Given the description of an element on the screen output the (x, y) to click on. 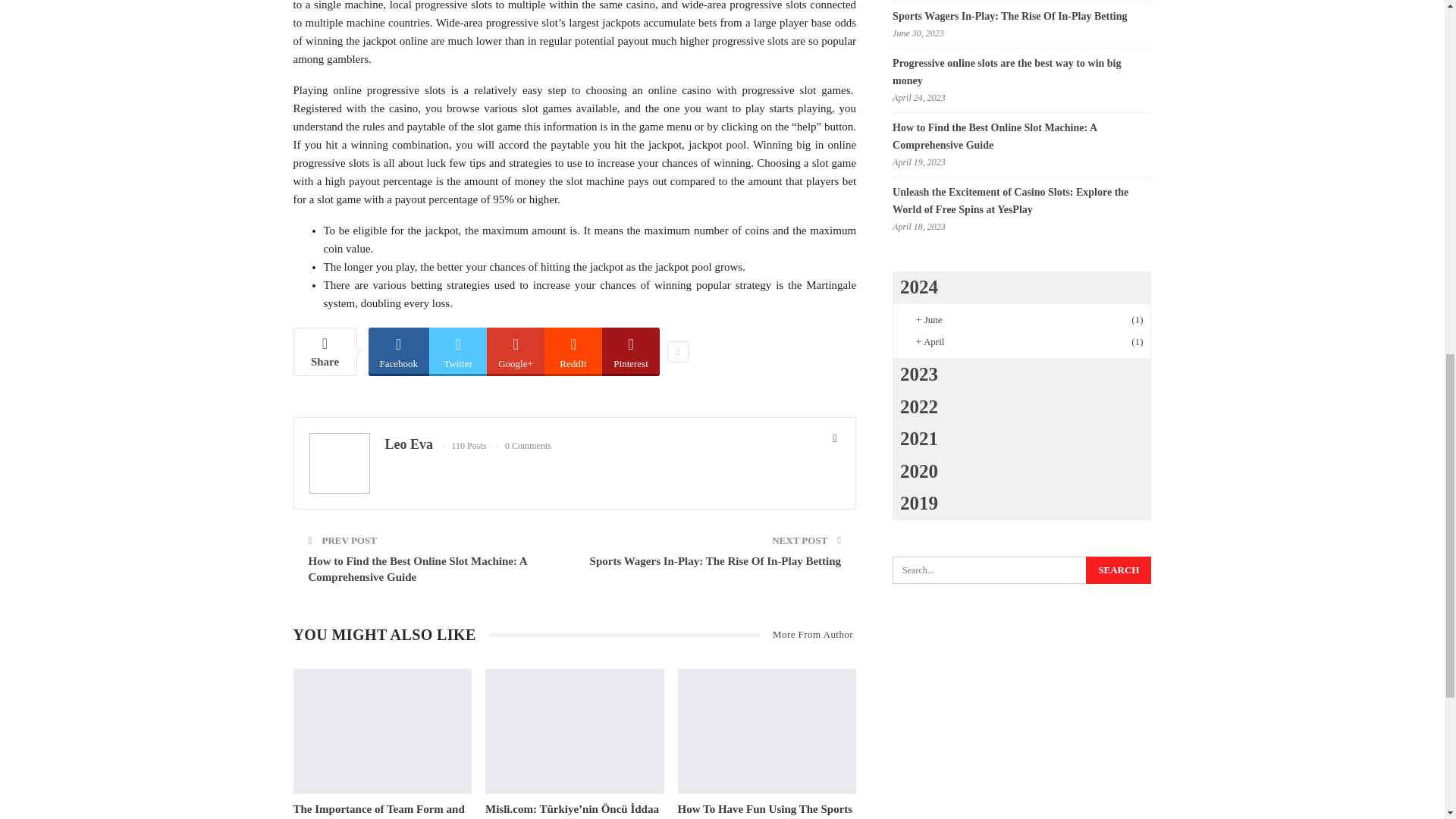
Facebook (398, 350)
Pinterest (630, 350)
Search (1118, 569)
Search (1118, 569)
Twitter (457, 350)
Sports Wagers In-Play: The Rise Of In-Play Betting (715, 561)
ReddIt (573, 350)
Leo Eva (409, 444)
How To Have Fun Using The Sports Betting Sites (765, 811)
How To Have Fun Using The Sports Betting Sites (767, 731)
